Given the description of an element on the screen output the (x, y) to click on. 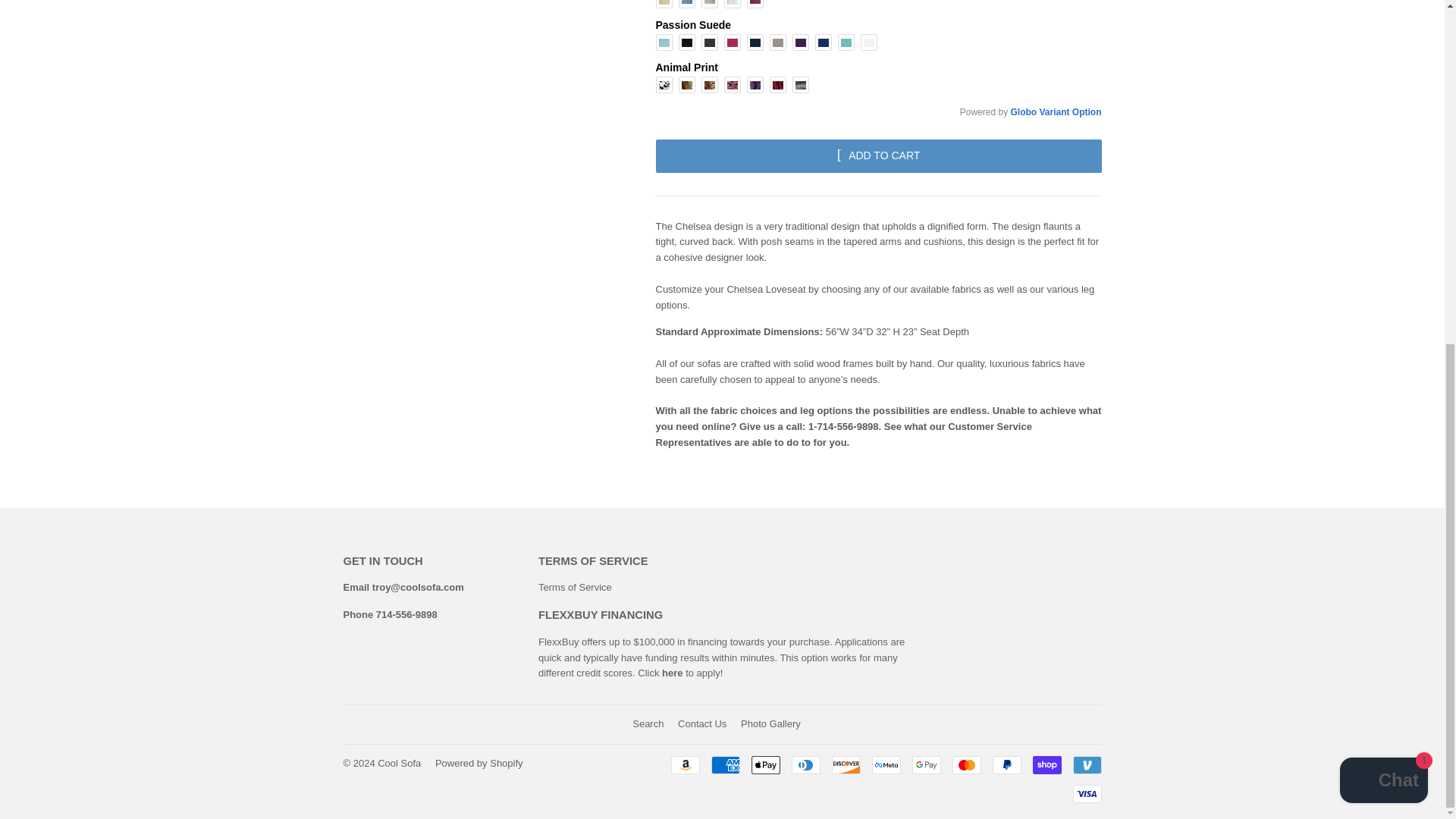
Amazon (683, 764)
Meta Pay (886, 764)
Apple Pay (764, 764)
Shop Pay (1046, 764)
Phone 714-556-9898 (389, 614)
Service (594, 586)
ADD TO CART (877, 155)
Shopify online store chat (1383, 193)
Globo Variant Option (1055, 112)
American Express (725, 764)
PayPal (1005, 764)
Discover (845, 764)
Venmo (1085, 764)
tel:714-556-9898 (389, 614)
Mastercard (966, 764)
